Given the description of an element on the screen output the (x, y) to click on. 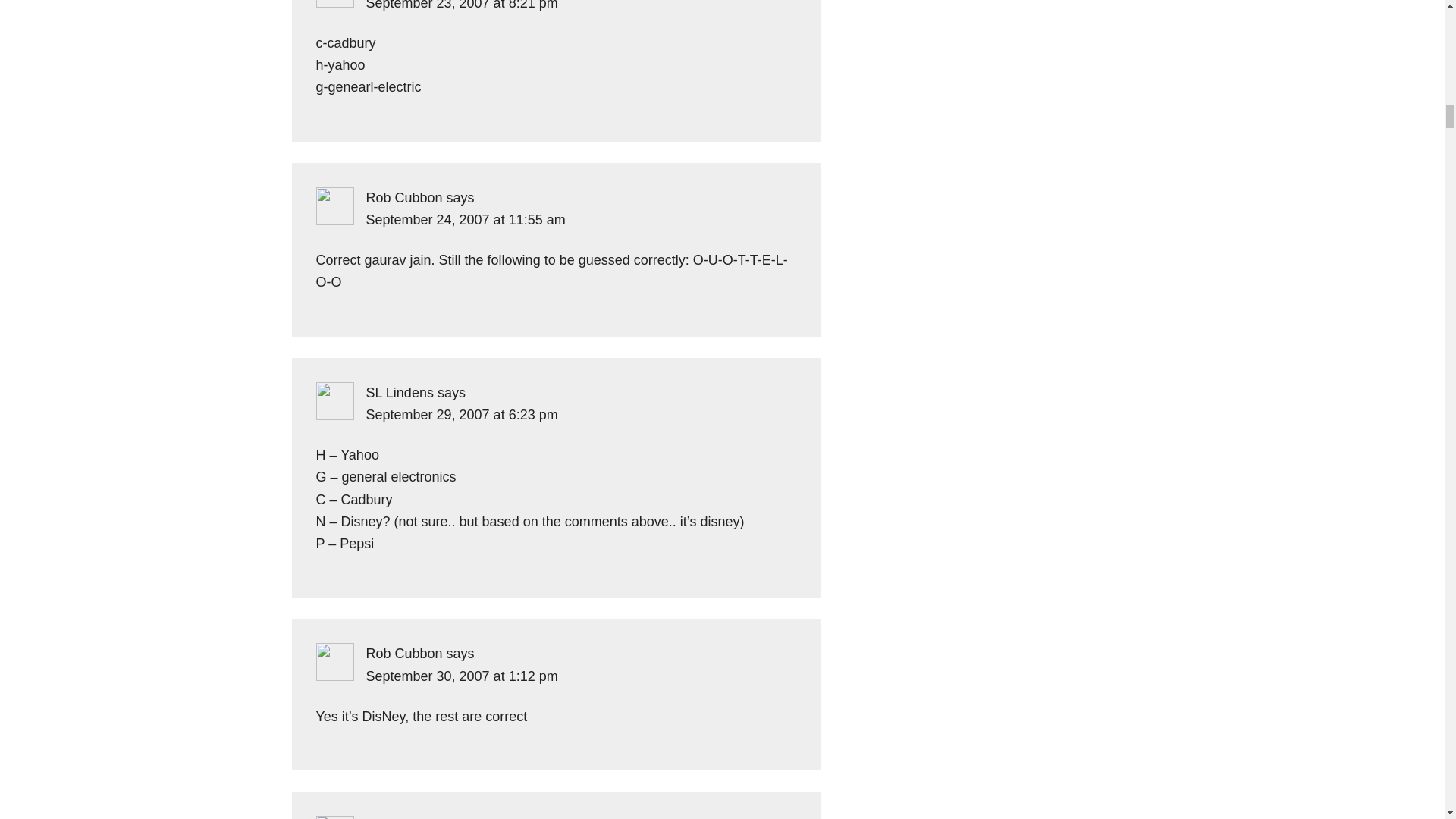
September 23, 2007 at 8:21 pm (461, 5)
Rob Cubbon (403, 197)
